Given the description of an element on the screen output the (x, y) to click on. 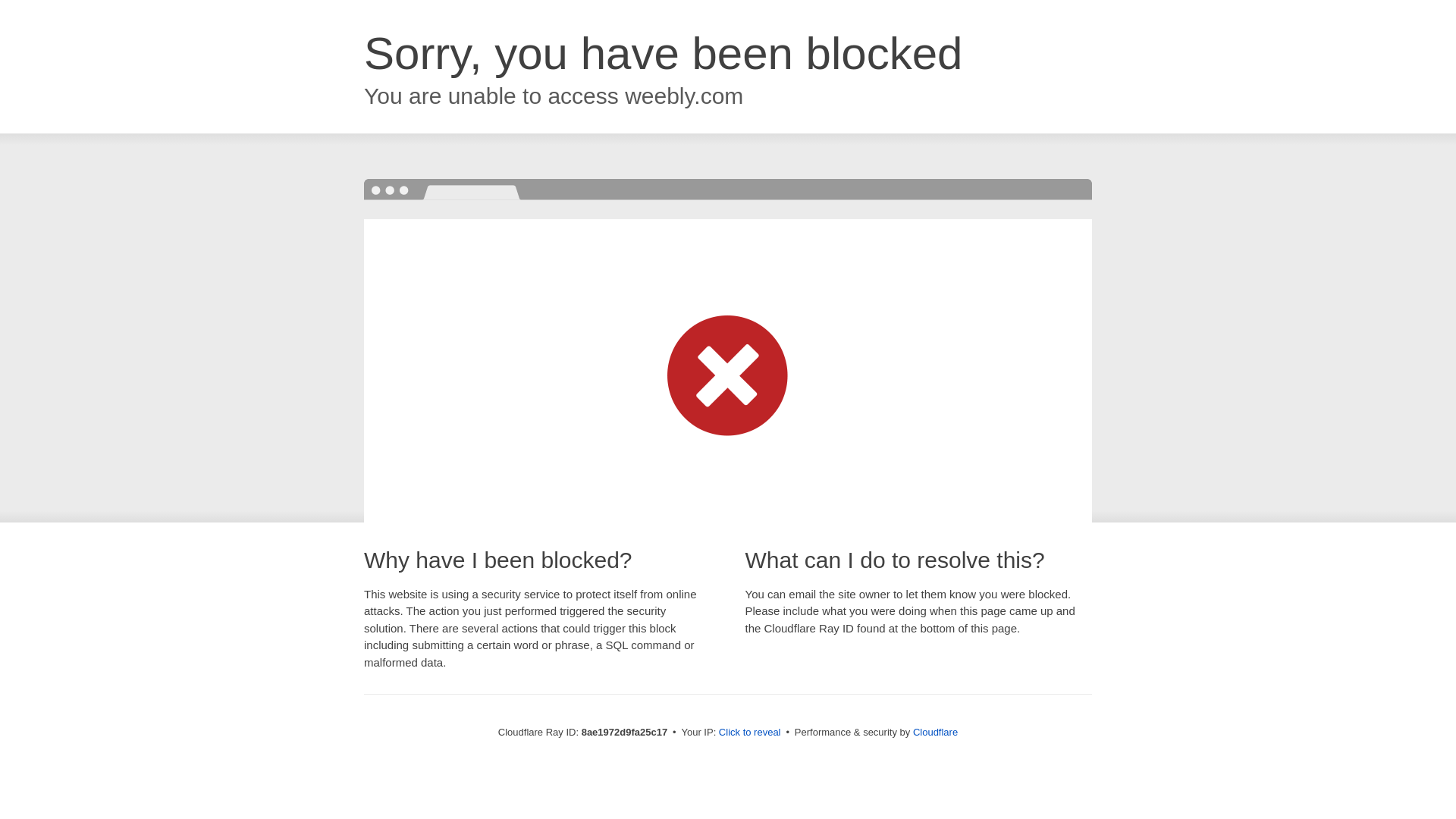
Cloudflare (935, 731)
Click to reveal (749, 732)
